Given the description of an element on the screen output the (x, y) to click on. 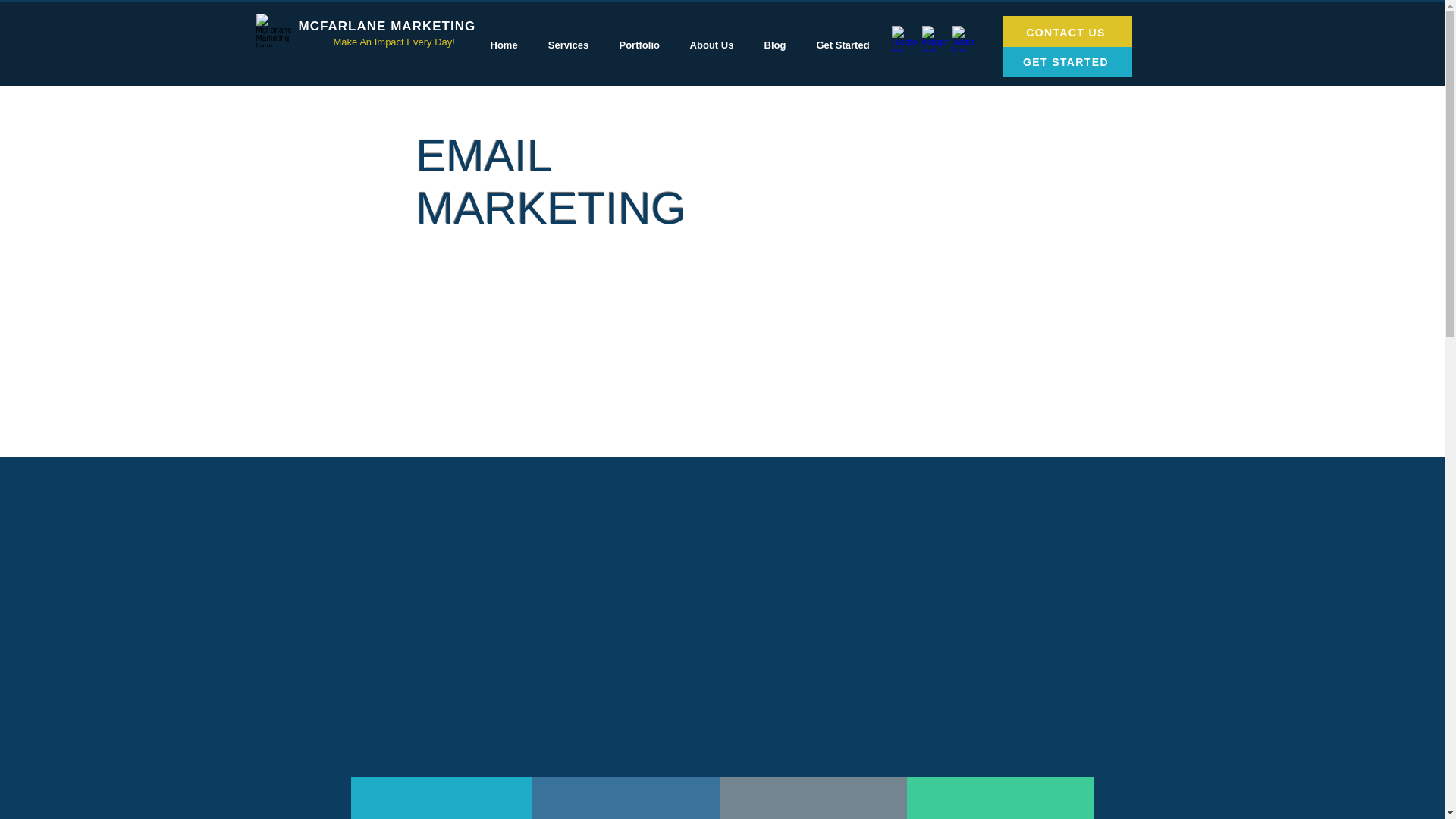
Get Started (841, 44)
Home (503, 44)
CONTACT US (1067, 32)
MCFARLANE MARKETING (387, 25)
Portfolio (639, 44)
About Us (712, 44)
GET STARTED (1067, 61)
Blog (775, 44)
